Given the description of an element on the screen output the (x, y) to click on. 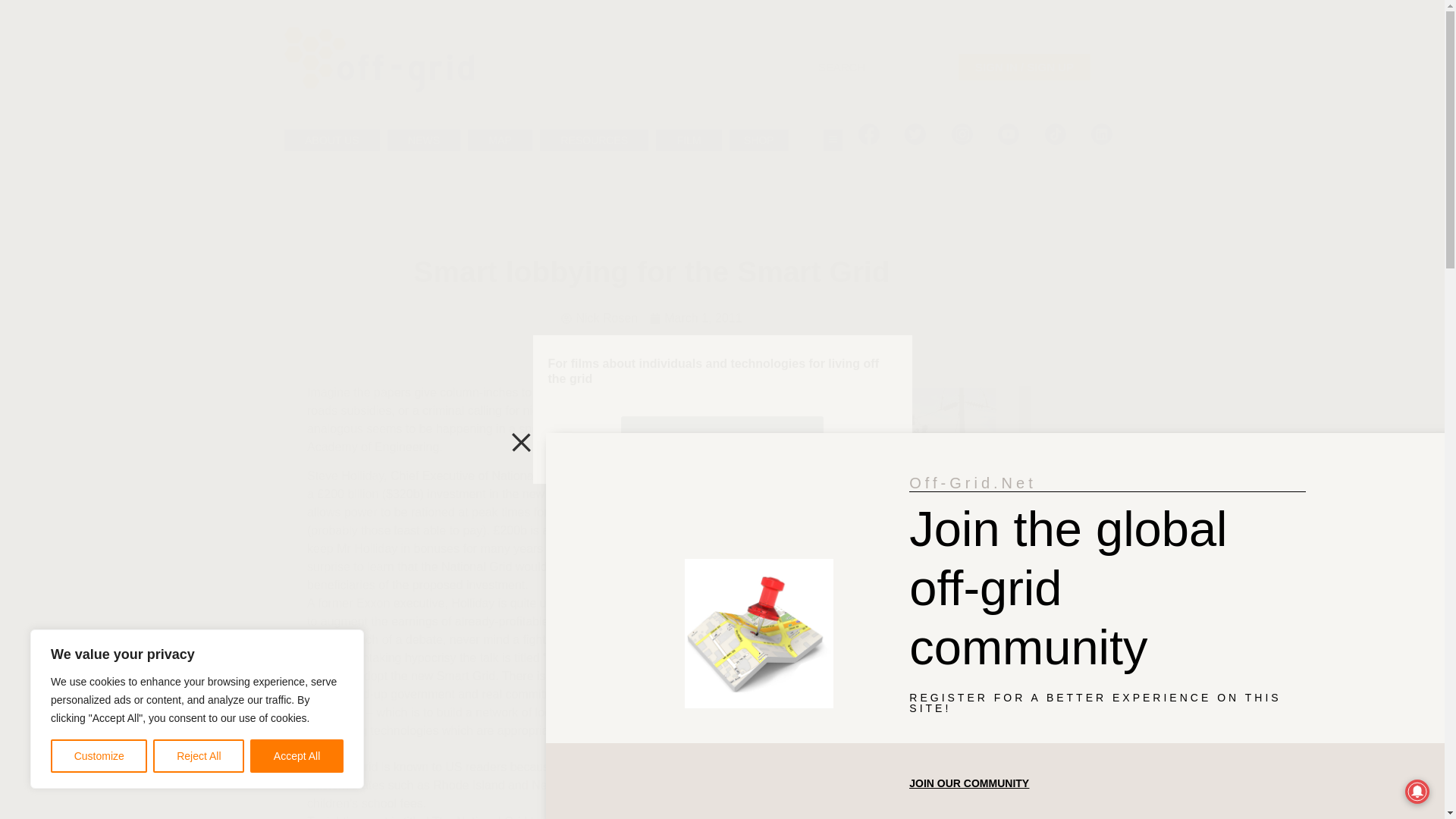
Accept All (296, 756)
Reject All (198, 756)
men on wire (859, 469)
Customize (98, 756)
Checkout our YouTube channel (722, 442)
